Given the description of an element on the screen output the (x, y) to click on. 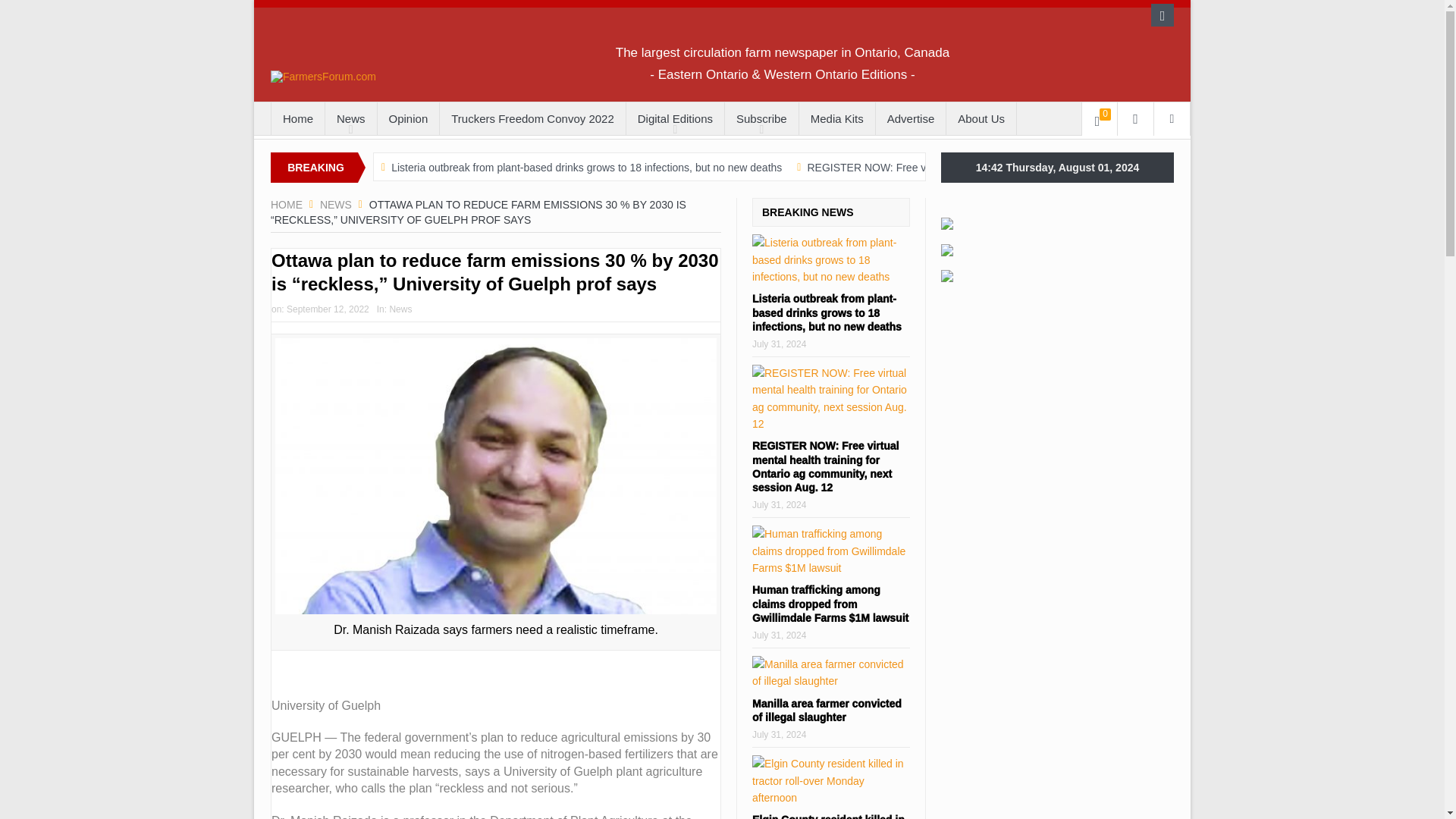
Advertise (911, 118)
Home (297, 118)
View all posts in News (400, 308)
About Us (981, 118)
Digital Editions (674, 118)
Truckers Freedom Convoy 2022 (532, 118)
Opinion (408, 118)
Media Kits (837, 118)
0 (1099, 118)
News (336, 204)
News (350, 118)
Subscribe (761, 118)
